Given the description of an element on the screen output the (x, y) to click on. 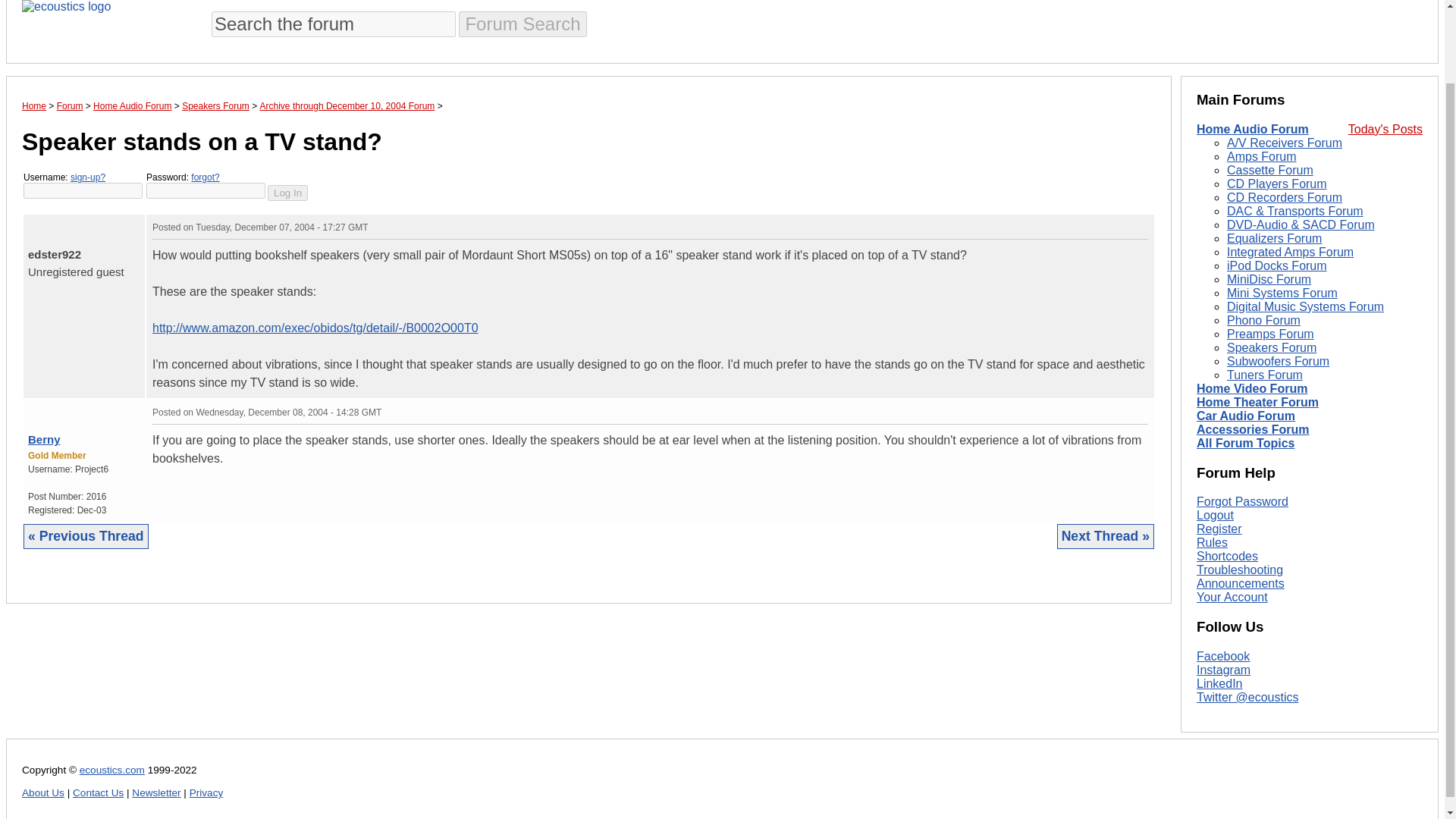
Edit Post (1140, 226)
top of page (32, 409)
Forum (69, 105)
Log In (287, 192)
Home Audio Forum (132, 105)
forgot? (204, 176)
next post (41, 224)
Edit Post (1140, 411)
Speakers Forum (215, 105)
Home Audio Forum (1252, 128)
